Given the description of an element on the screen output the (x, y) to click on. 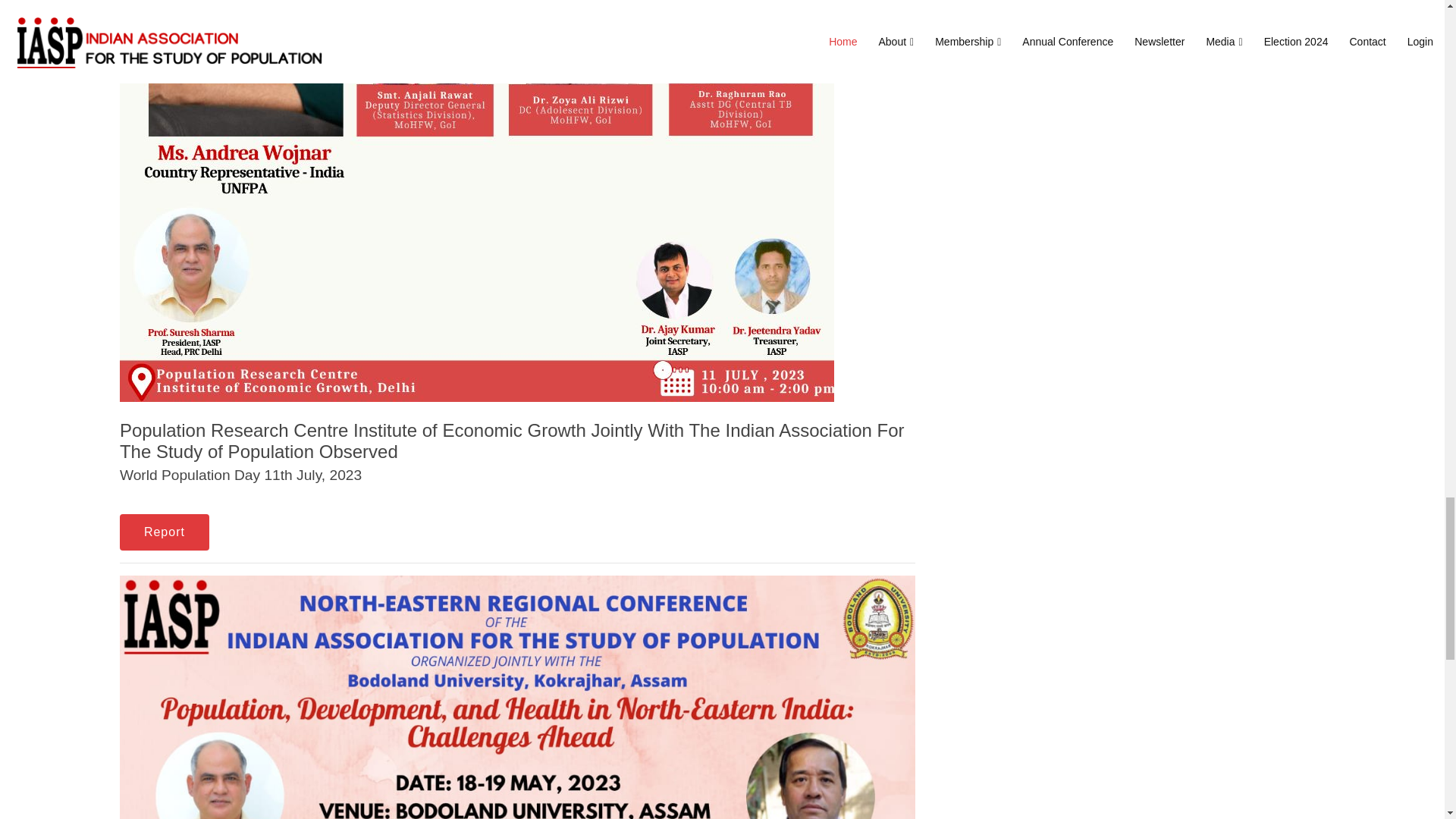
Report (164, 532)
